Given the description of an element on the screen output the (x, y) to click on. 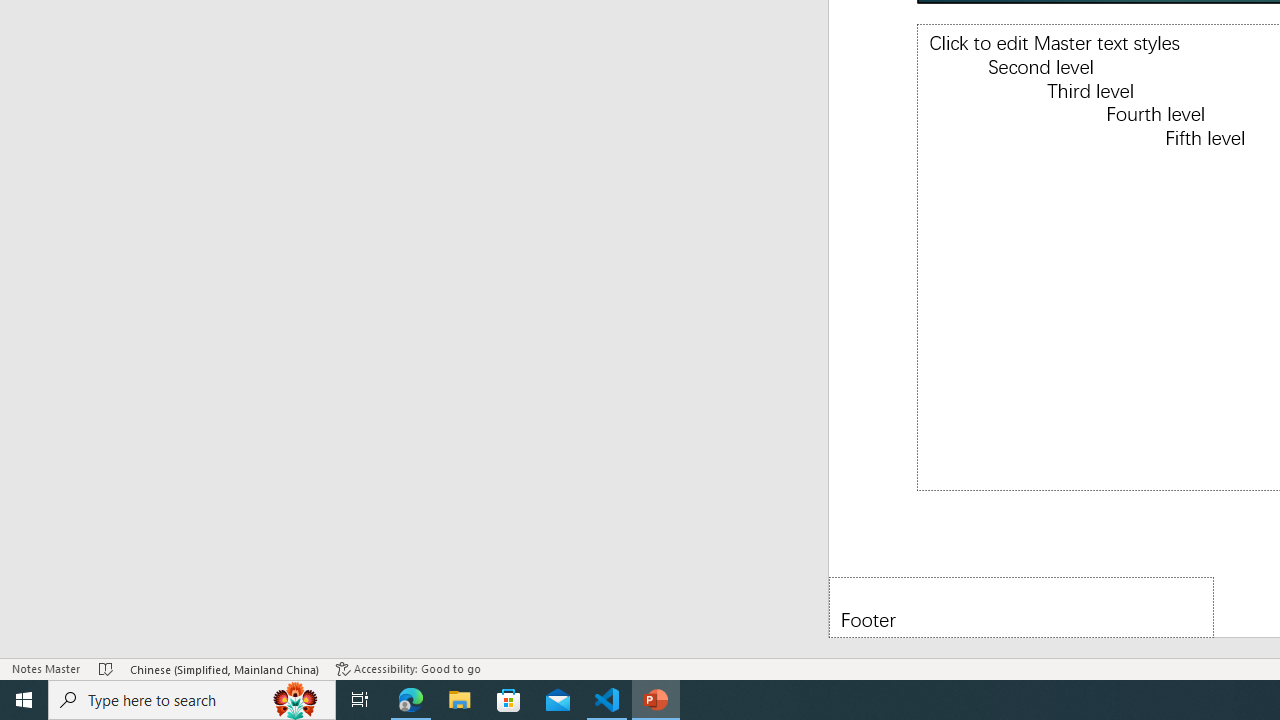
Footer (1021, 606)
